Given the description of an element on the screen output the (x, y) to click on. 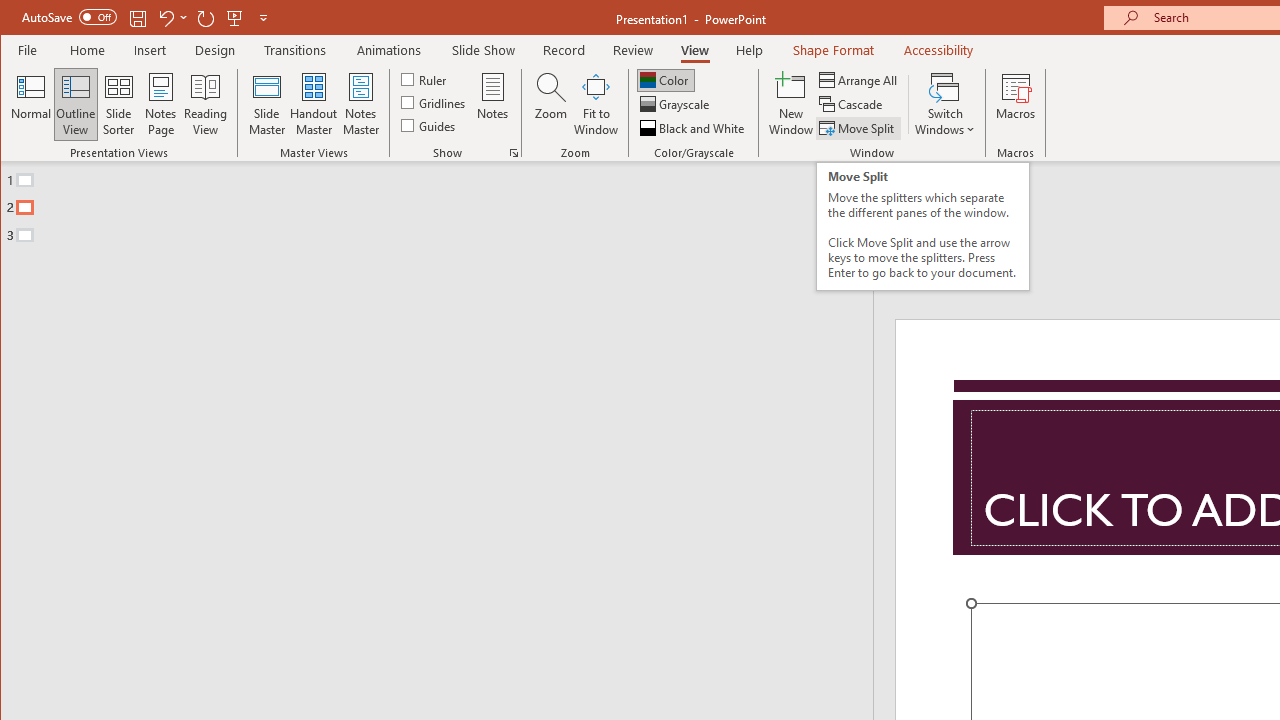
Notes (493, 104)
Black and White (694, 127)
Notes Master (360, 104)
Move Split (858, 127)
New Window (791, 104)
Handout Master (314, 104)
Slide Master (266, 104)
